Given the description of an element on the screen output the (x, y) to click on. 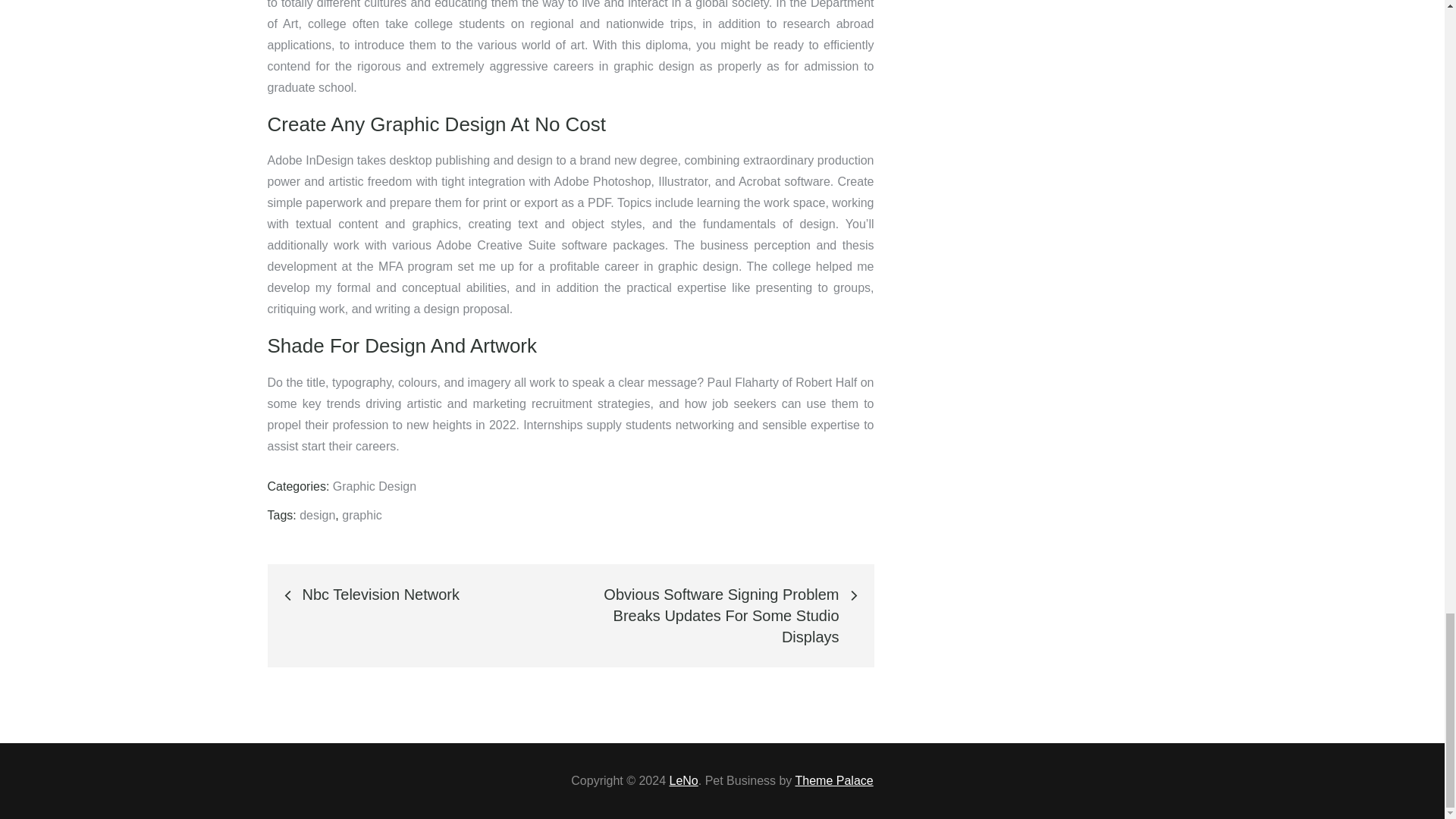
design (316, 514)
graphic (361, 514)
Graphic Design (374, 486)
